Given the description of an element on the screen output the (x, y) to click on. 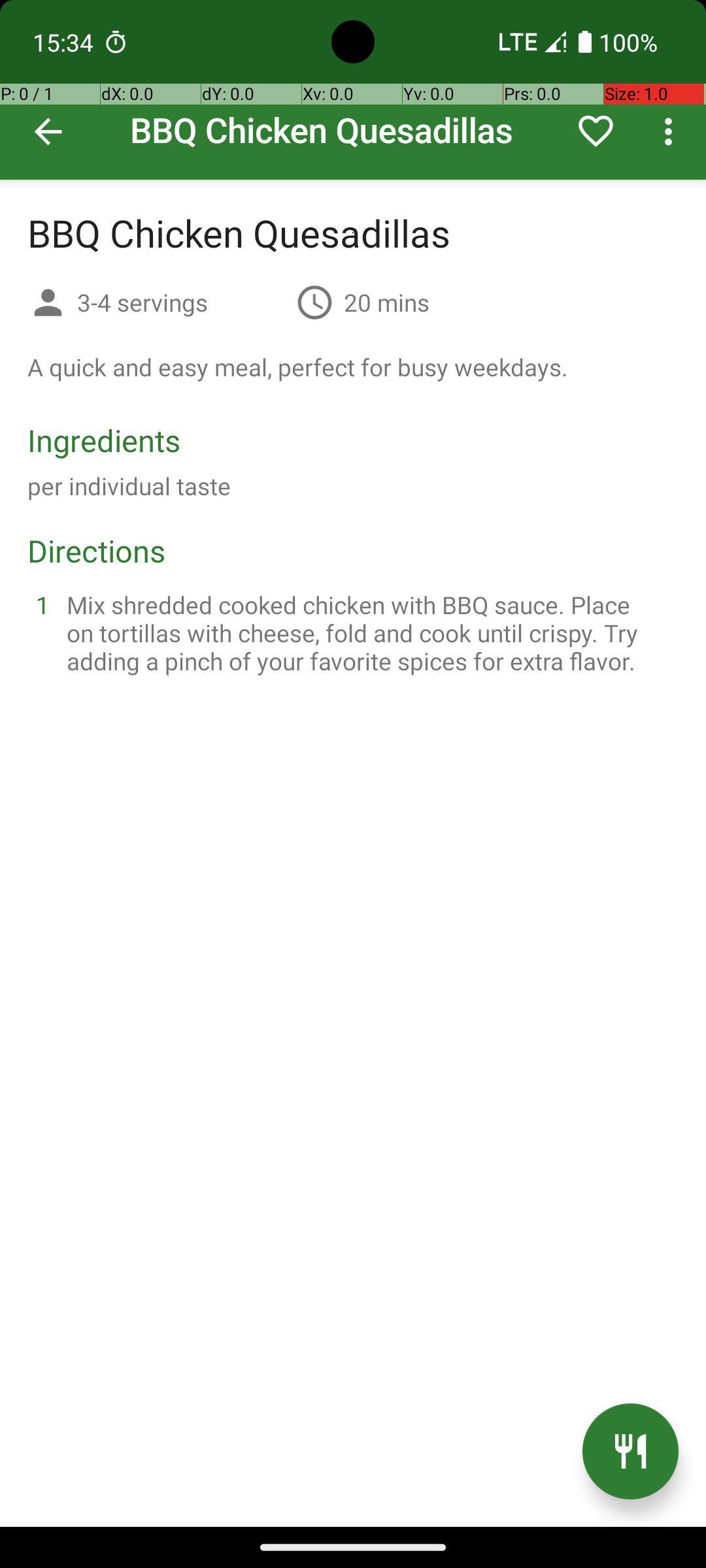
Mix shredded cooked chicken with BBQ sauce. Place on tortillas with cheese, fold and cook until crispy. Try adding a pinch of your favorite spices for extra flavor. Element type: android.widget.TextView (368, 632)
